Given the description of an element on the screen output the (x, y) to click on. 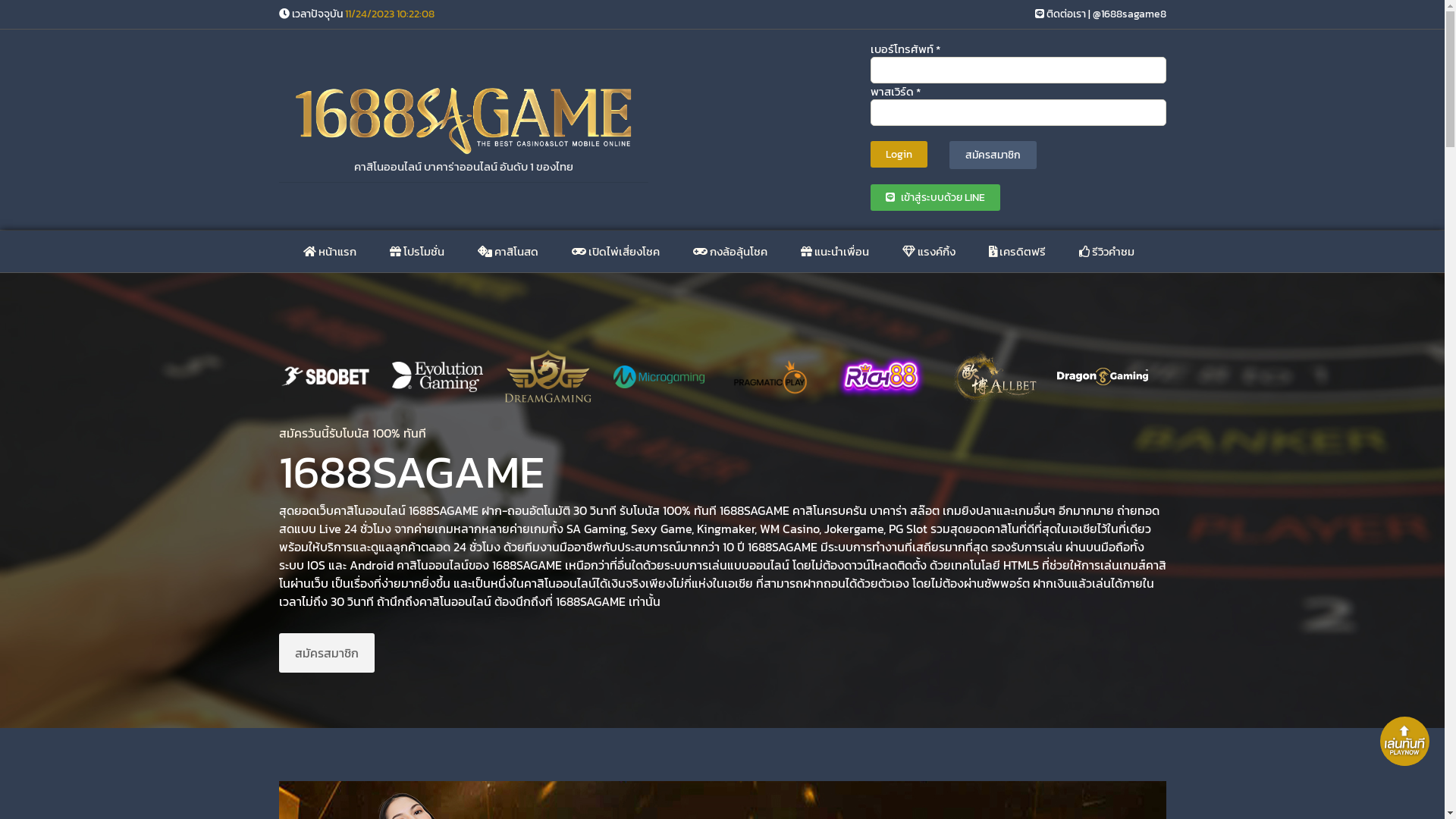
Login Element type: text (898, 154)
